Given the description of an element on the screen output the (x, y) to click on. 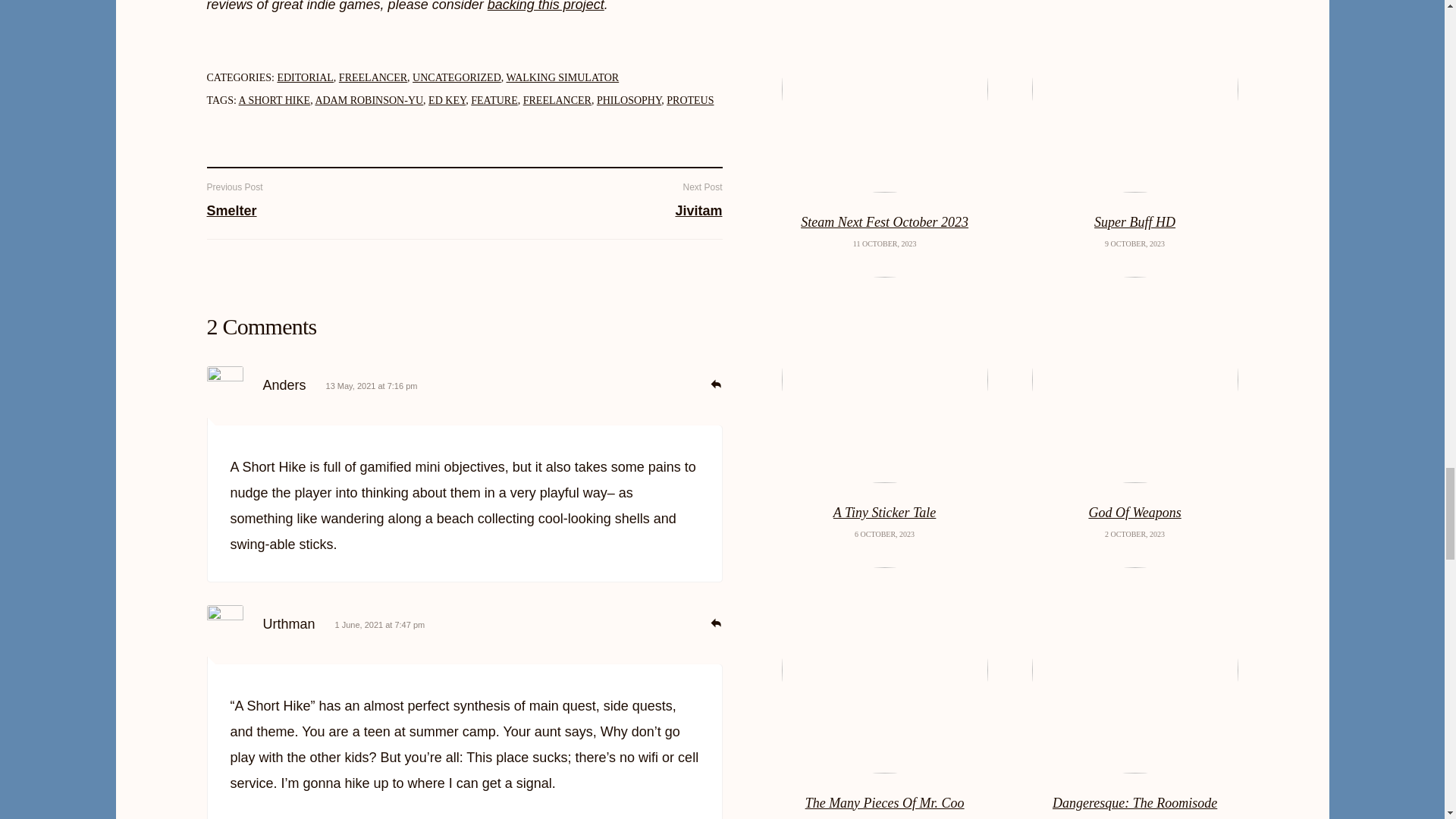
PHILOSOPHY (628, 100)
UNCATEGORIZED (456, 77)
FEATURE (493, 100)
Smelter (231, 210)
WALKING SIMULATOR (563, 77)
A SHORT HIKE (274, 100)
PROTEUS (689, 100)
ADAM ROBINSON-YU (368, 100)
FREELANCER (556, 100)
EDITORIAL (304, 77)
